Given the description of an element on the screen output the (x, y) to click on. 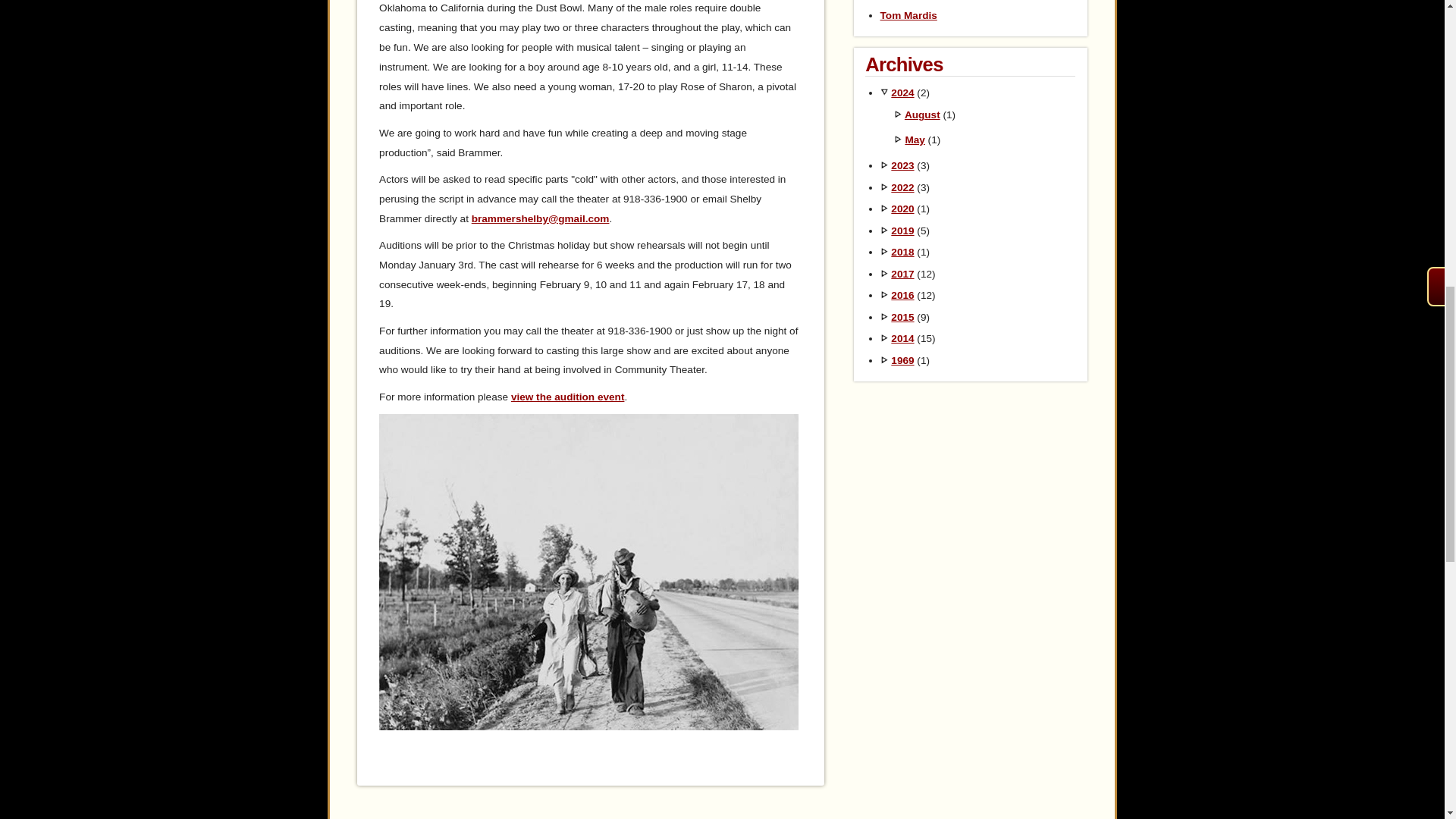
2023 (902, 165)
May (914, 139)
View the event page for auditions for The Grapes of Wrath (567, 396)
Tom Mardis (908, 15)
August (922, 114)
2024 (902, 92)
view the audition event (567, 396)
